Given the description of an element on the screen output the (x, y) to click on. 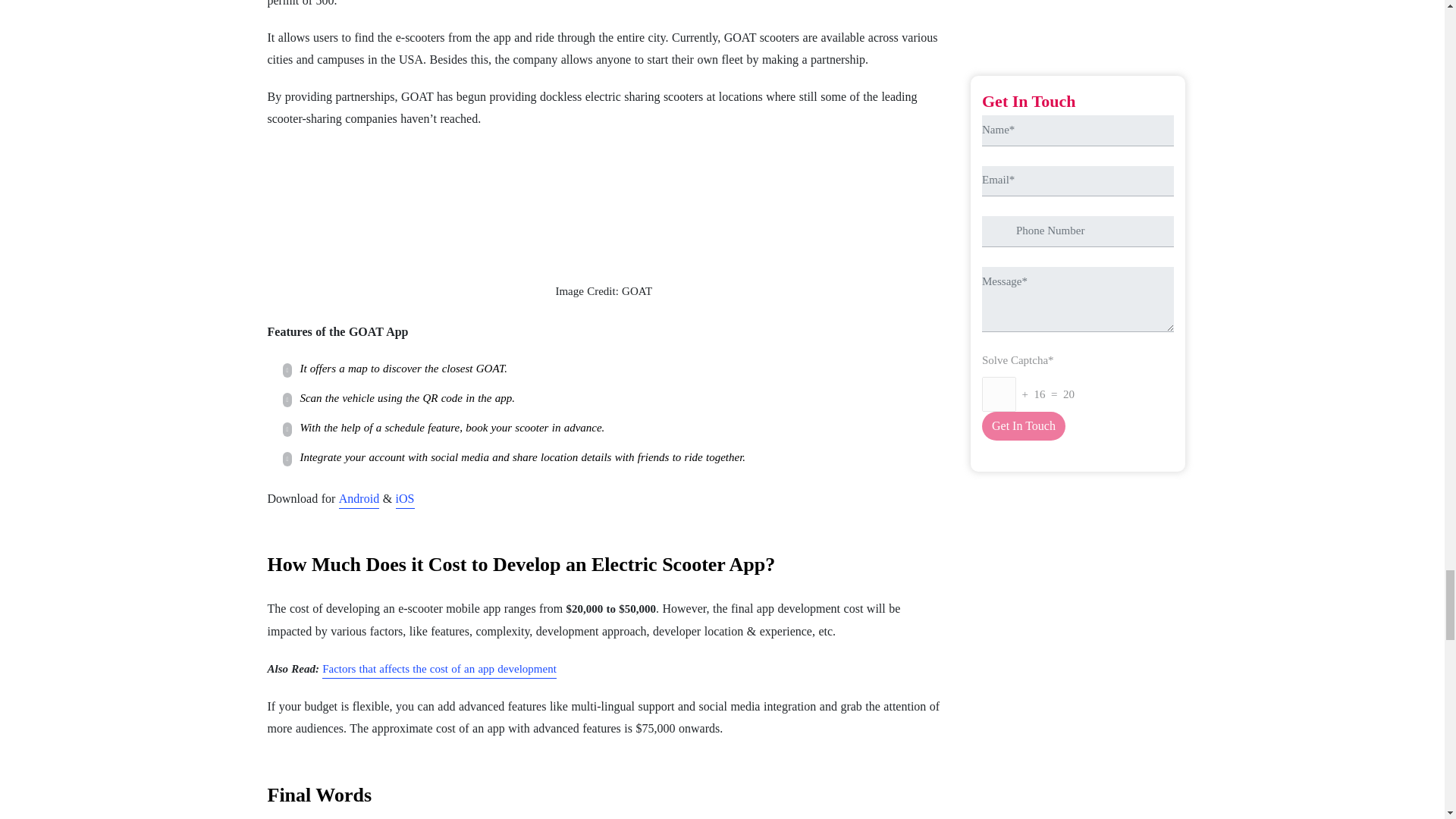
GOAT - Scooter Rental (603, 204)
